Given the description of an element on the screen output the (x, y) to click on. 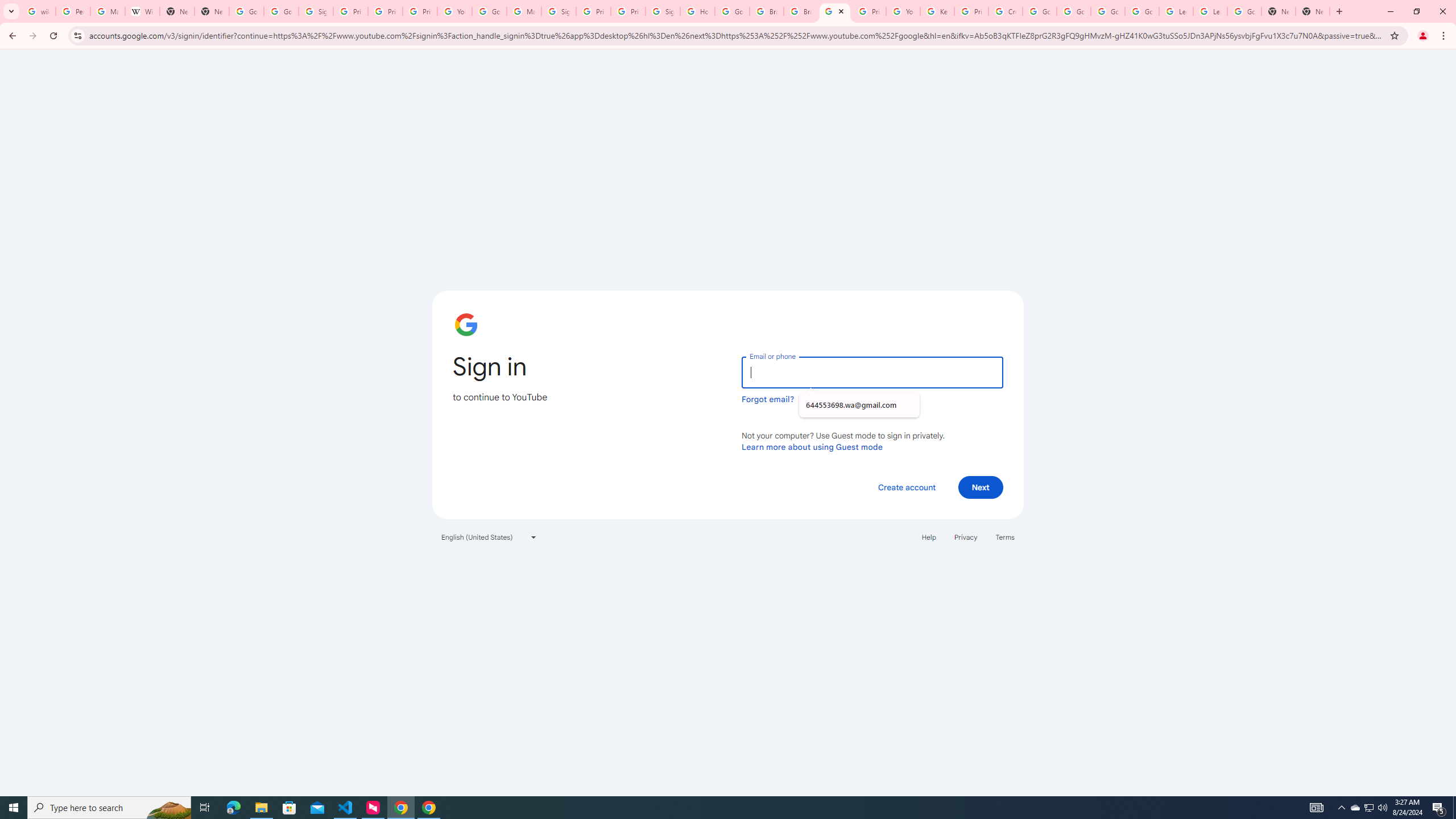
Google Account (1243, 11)
Sign in - Google Accounts (557, 11)
Google Account Help (1039, 11)
Next (980, 486)
New Tab (1312, 11)
Google Account Help (1141, 11)
YouTube (834, 11)
